Given the description of an element on the screen output the (x, y) to click on. 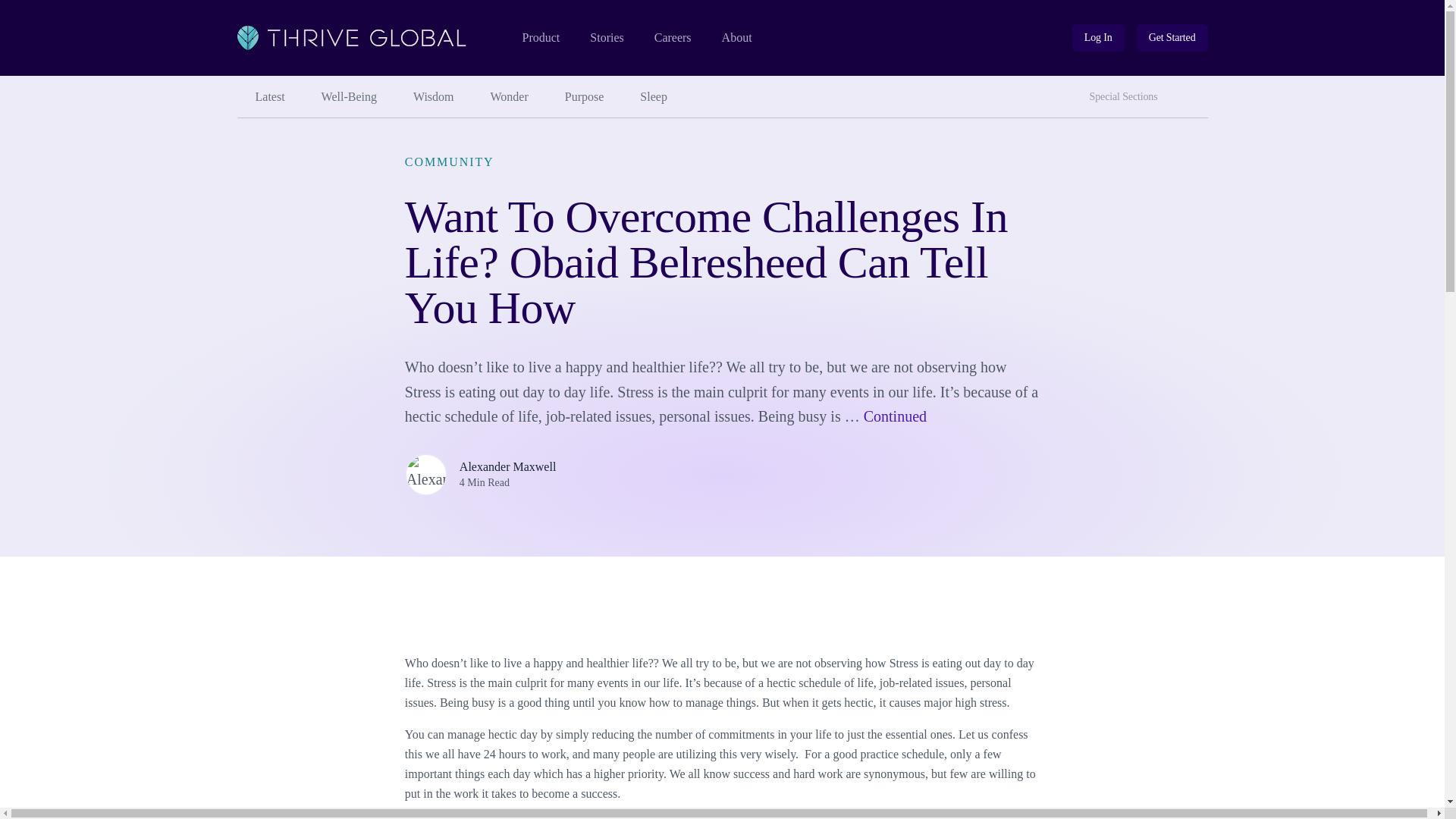
Stories (606, 37)
Log In (1097, 37)
Sleep (653, 96)
Wonder (509, 96)
Latest (268, 96)
About (737, 37)
btn-info (1097, 37)
Product (540, 37)
btn-primary (1172, 37)
Wisdom (432, 96)
